Given the description of an element on the screen output the (x, y) to click on. 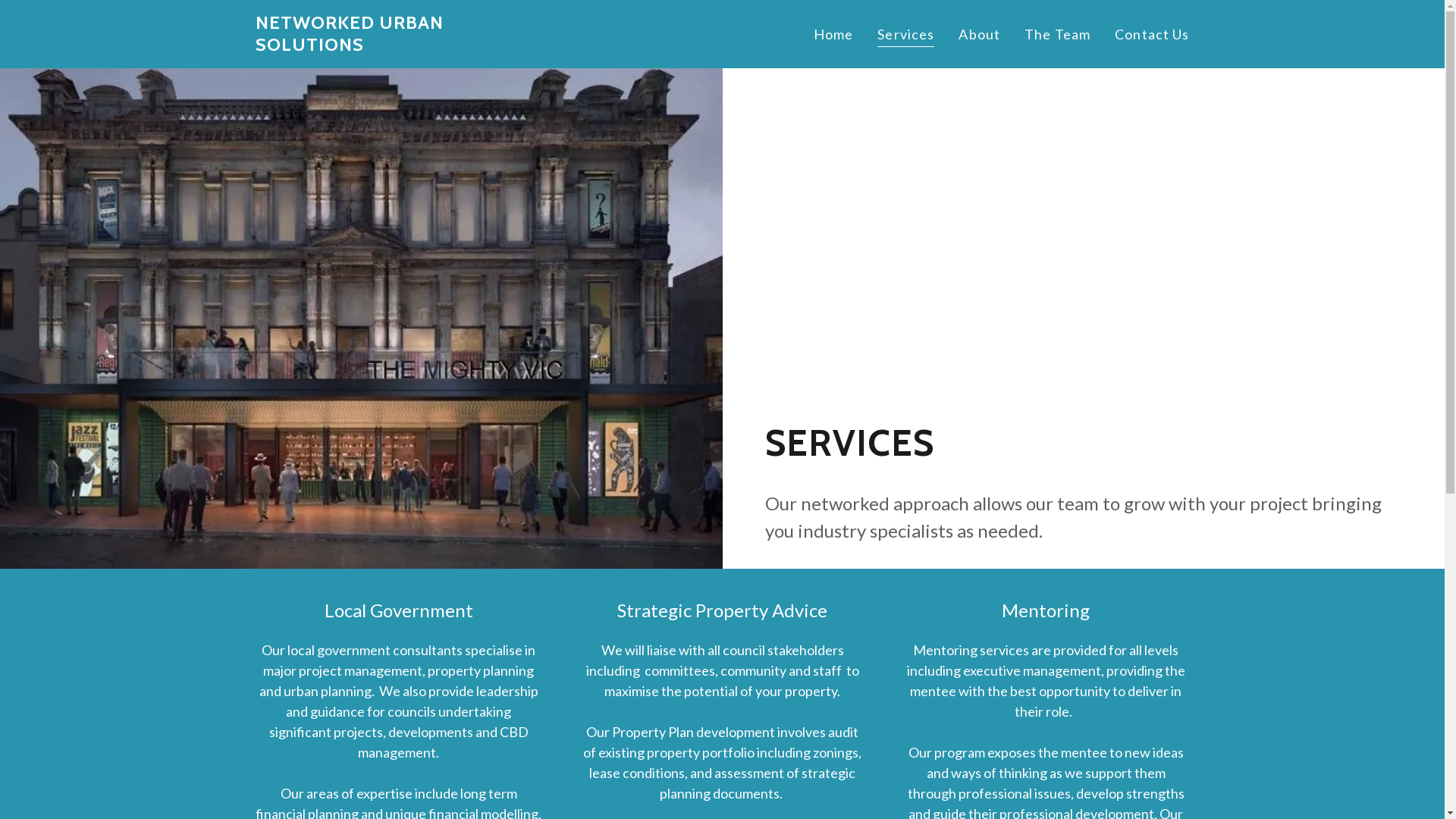
The Team Element type: text (1057, 33)
Home Element type: text (833, 33)
Services Element type: text (905, 36)
NETWORKED URBAN SOLUTIONS Element type: text (396, 45)
About Element type: text (978, 33)
Contact Us Element type: text (1151, 33)
